Given the description of an element on the screen output the (x, y) to click on. 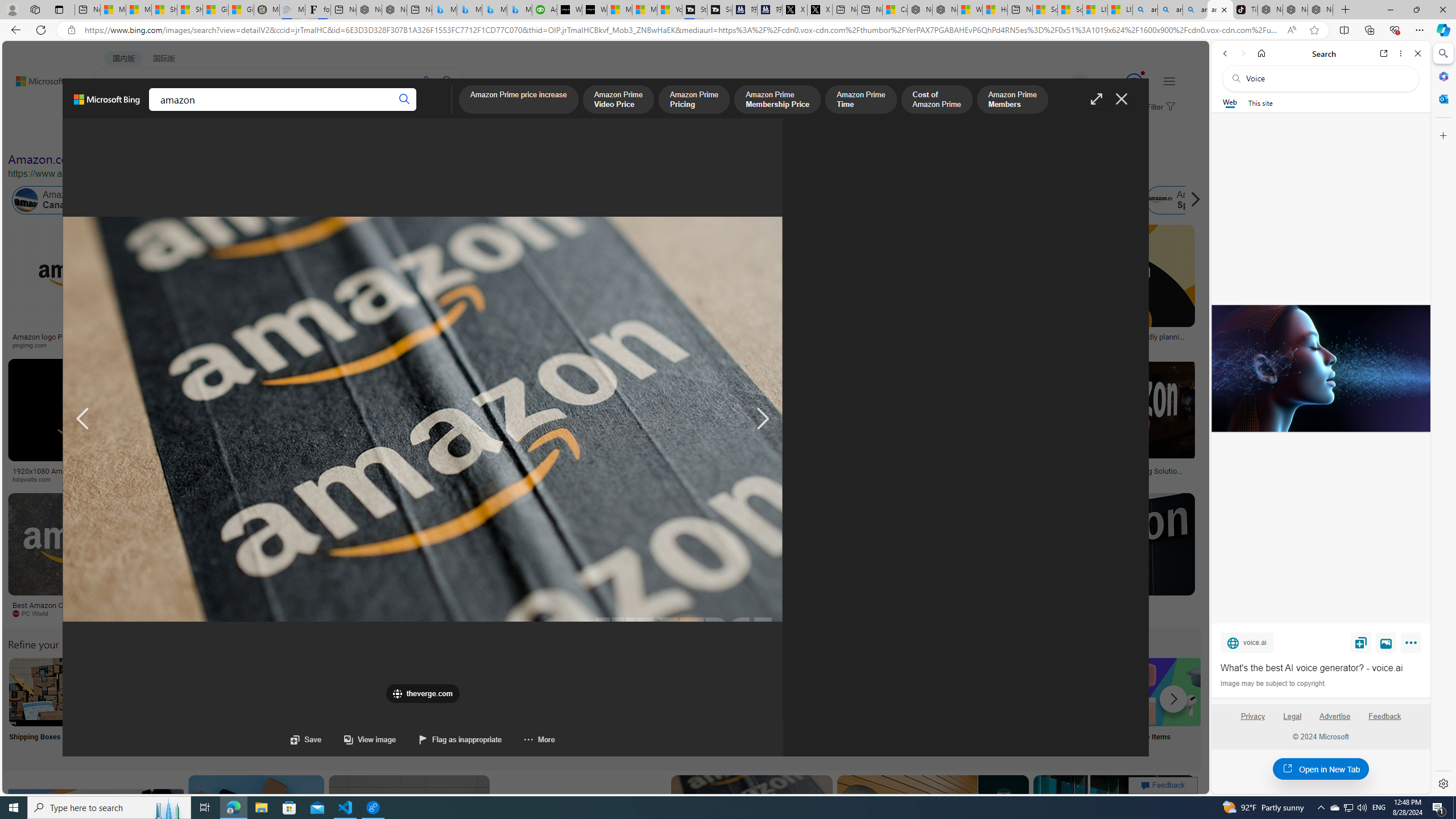
WEB (114, 111)
IMAGES (156, 111)
manilashaker.com (722, 613)
Amazon Prime Shopping Online (944, 691)
Search using voice (426, 80)
Wildlife - MSN (969, 9)
Amazon Shipping Boxes Shipping Boxes (42, 706)
Huge shark washes ashore at New York City beach | Watch (993, 9)
Settings (1442, 783)
Amazon Prime price jumping to $99 in the US - The Verge (422, 418)
vecteezy.com (908, 479)
